Given the description of an element on the screen output the (x, y) to click on. 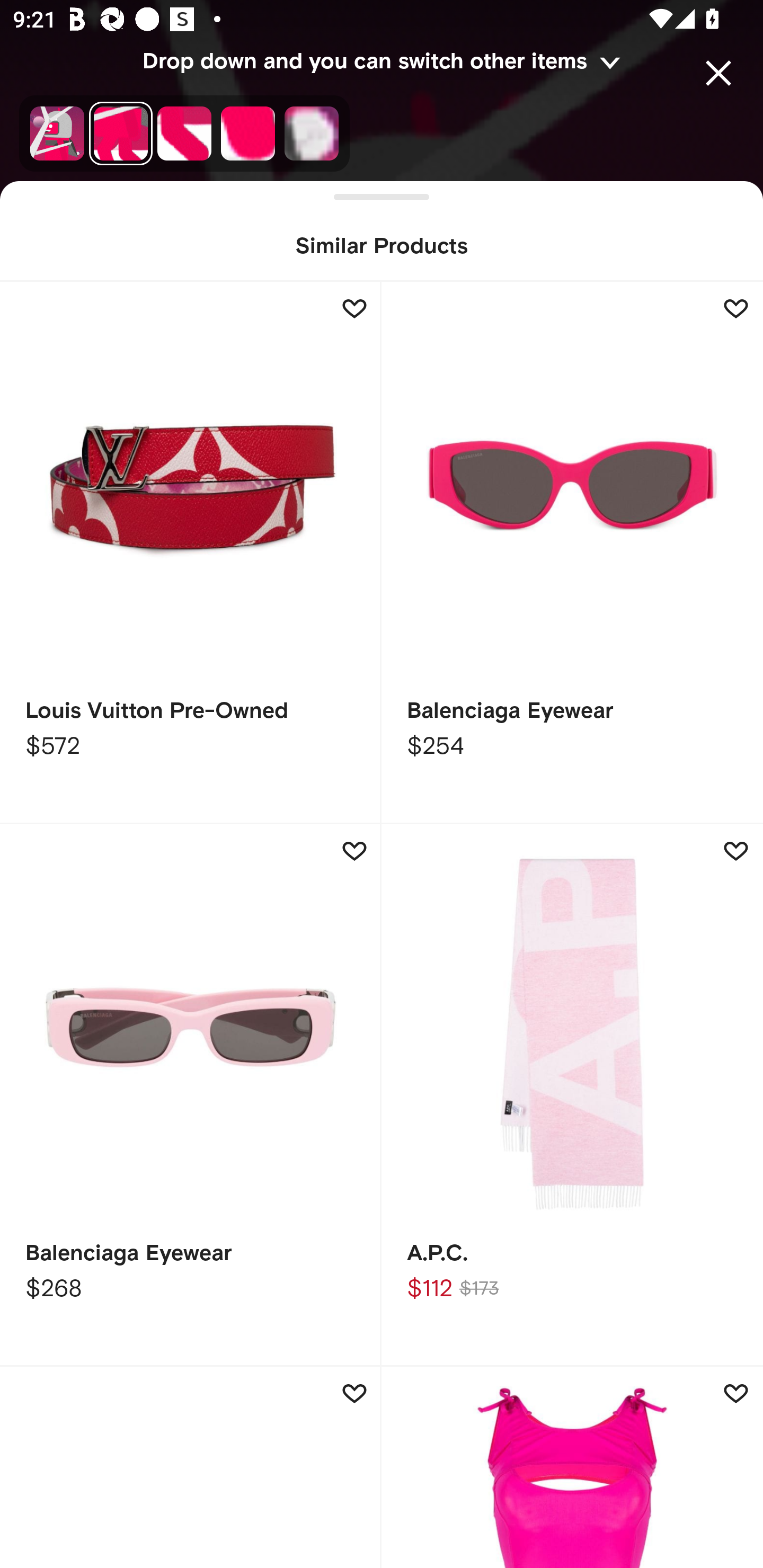
Louis Vuitton Pre-Owned $572 (190, 553)
Balenciaga Eyewear $254 (572, 553)
Balenciaga Eyewear $268 (190, 1095)
A.P.C. $112 $173 (572, 1095)
